Given the description of an element on the screen output the (x, y) to click on. 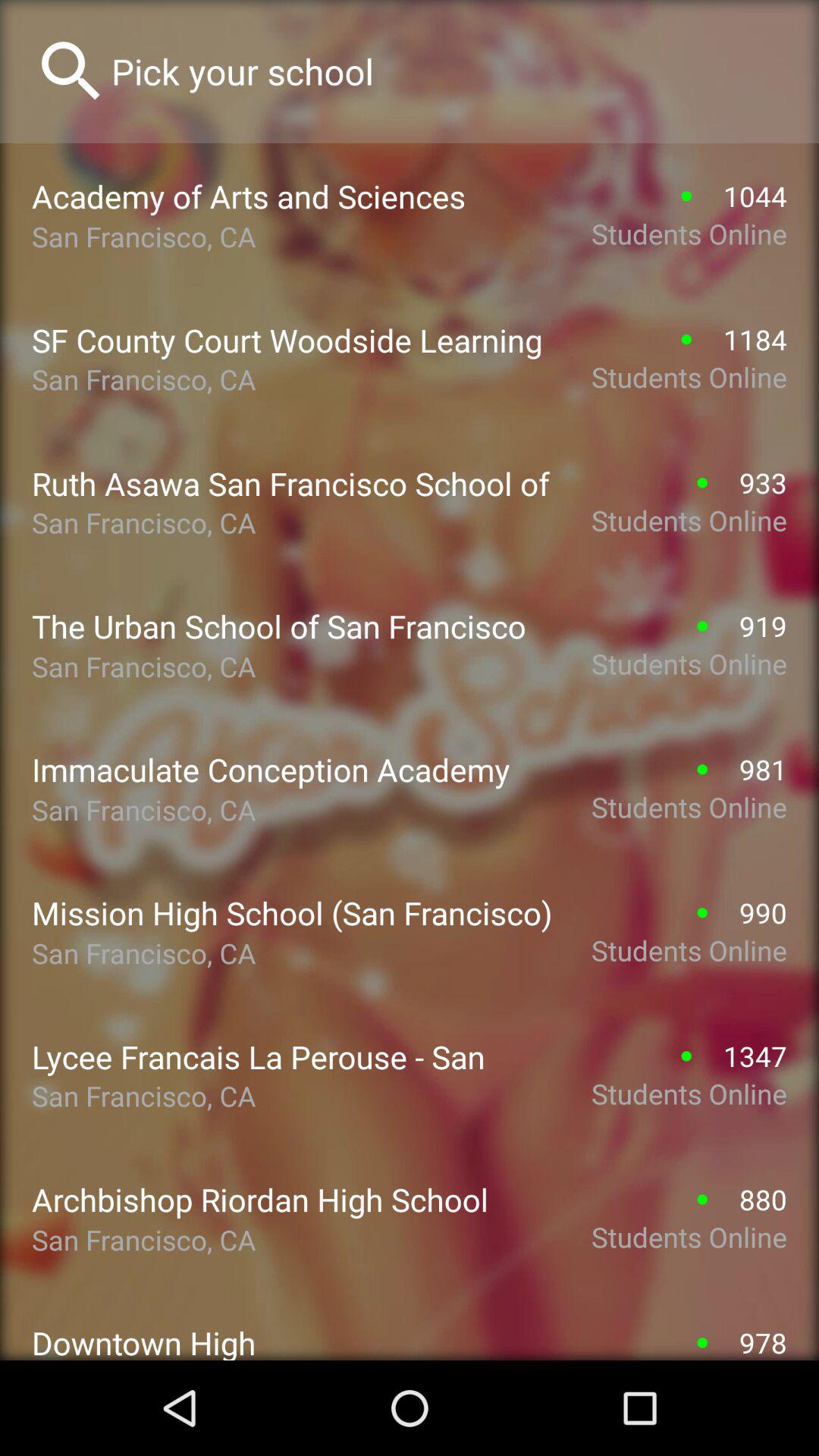
click the second last light green dot from the bottom of the page (702, 1199)
click the search button on the web page (71, 72)
